Given the description of an element on the screen output the (x, y) to click on. 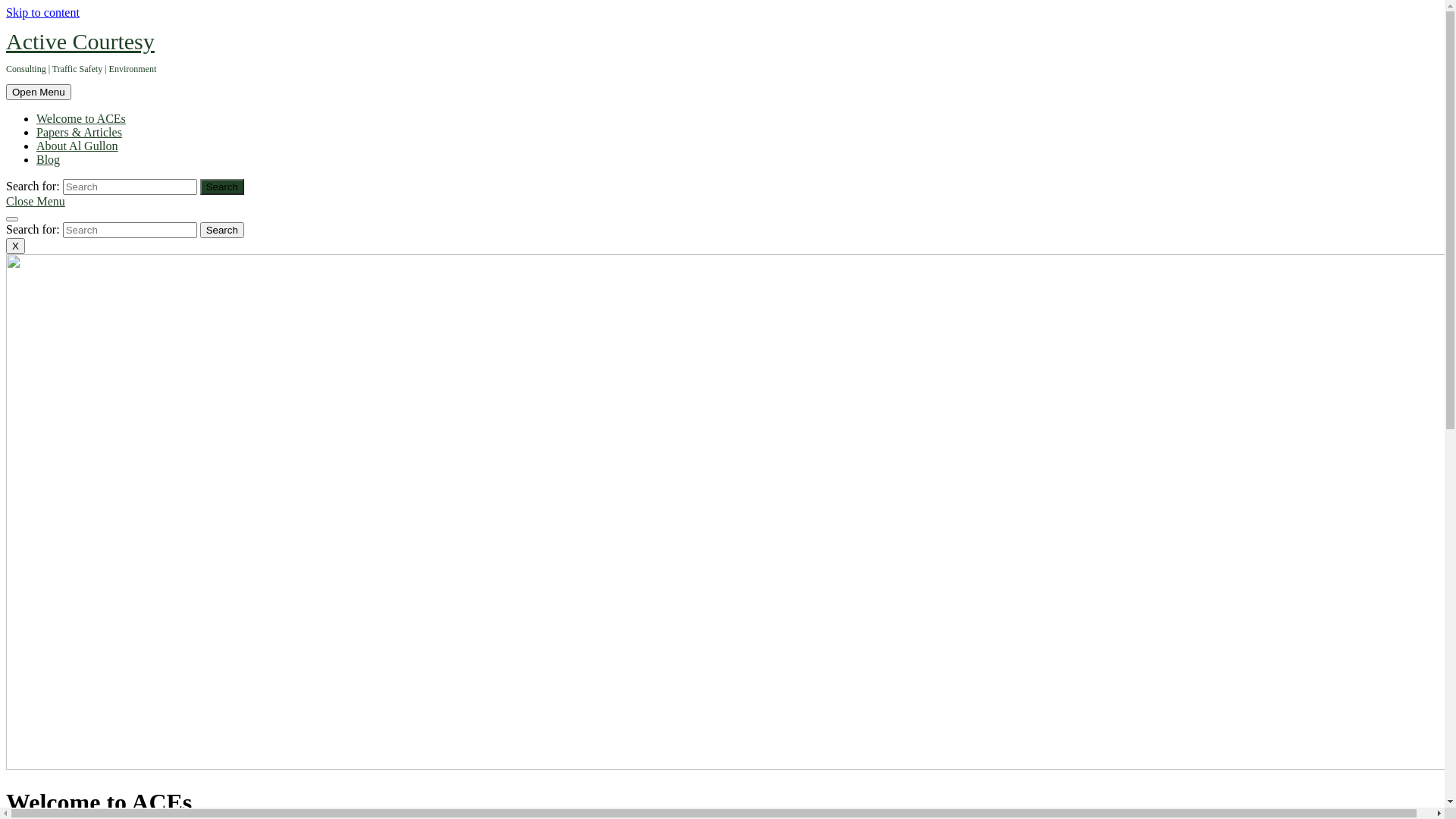
Skip to content Element type: text (42, 12)
Blog Element type: text (47, 159)
X Element type: text (15, 246)
Papers & Articles Element type: text (79, 131)
Welcome to ACEs Element type: text (80, 118)
Search Element type: text (222, 186)
Close Menu Element type: text (35, 200)
Active Courtesy Element type: text (80, 40)
About Al Gullon Element type: text (77, 145)
Open Menu Element type: text (38, 92)
Search Element type: text (222, 230)
